Given the description of an element on the screen output the (x, y) to click on. 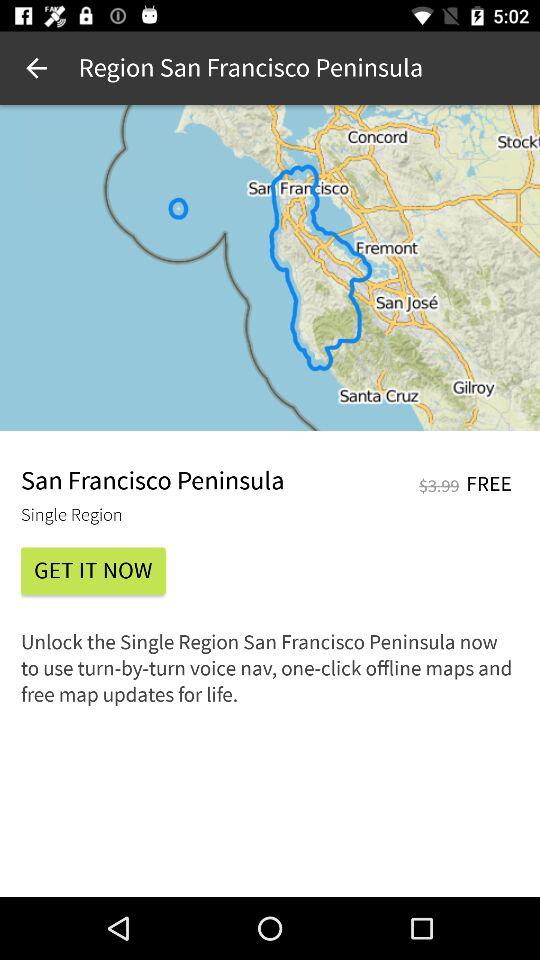
click the icon above the unlock the single (93, 570)
